Given the description of an element on the screen output the (x, y) to click on. 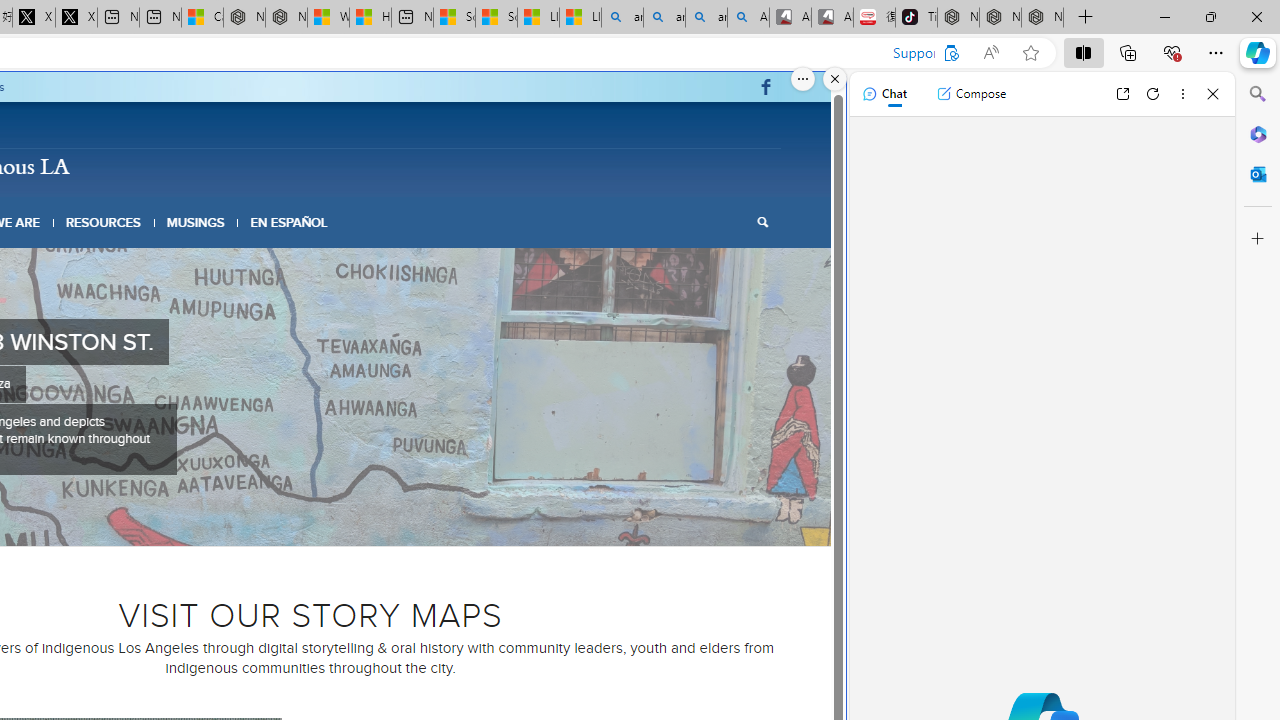
X (76, 17)
RESOURCES (102, 222)
7 (350, 521)
Huge shark washes ashore at New York City beach | Watch (369, 17)
Nordace - Summer Adventures 2024 (286, 17)
MUSINGS (195, 222)
8 (365, 521)
